Given the description of an element on the screen output the (x, y) to click on. 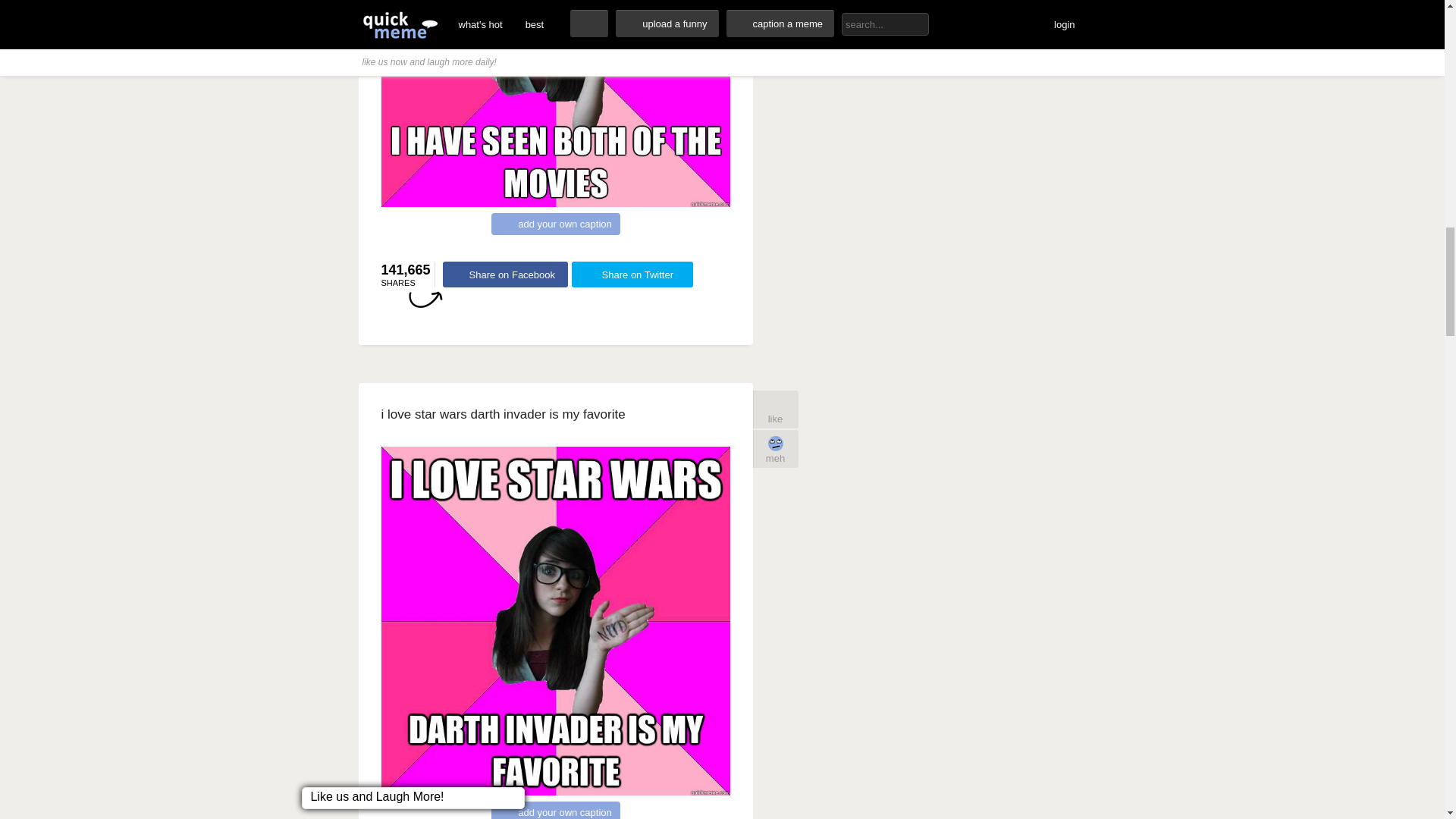
Share on Twitter (632, 274)
add your own caption (556, 223)
like (774, 409)
i love star wars darth invader is my favorite (502, 414)
meh (774, 448)
Share on Facebook (504, 274)
add your own caption (556, 810)
